Given the description of an element on the screen output the (x, y) to click on. 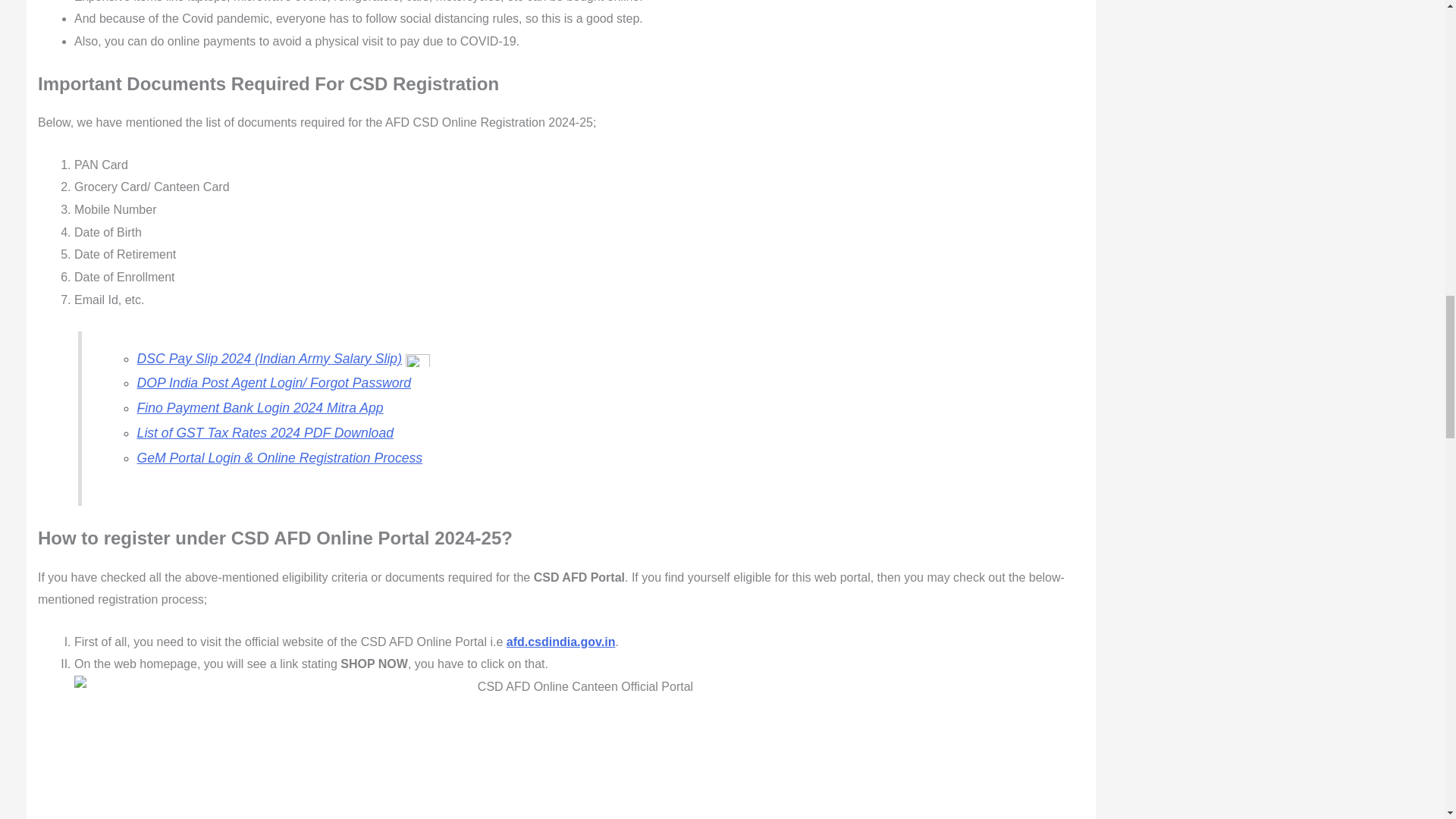
List of GST Tax Rates 2024 PDF Download (264, 432)
afd.csdindia.gov.in (560, 641)
Fino Payment Bank Login 2024 Mitra App (260, 407)
